Given the description of an element on the screen output the (x, y) to click on. 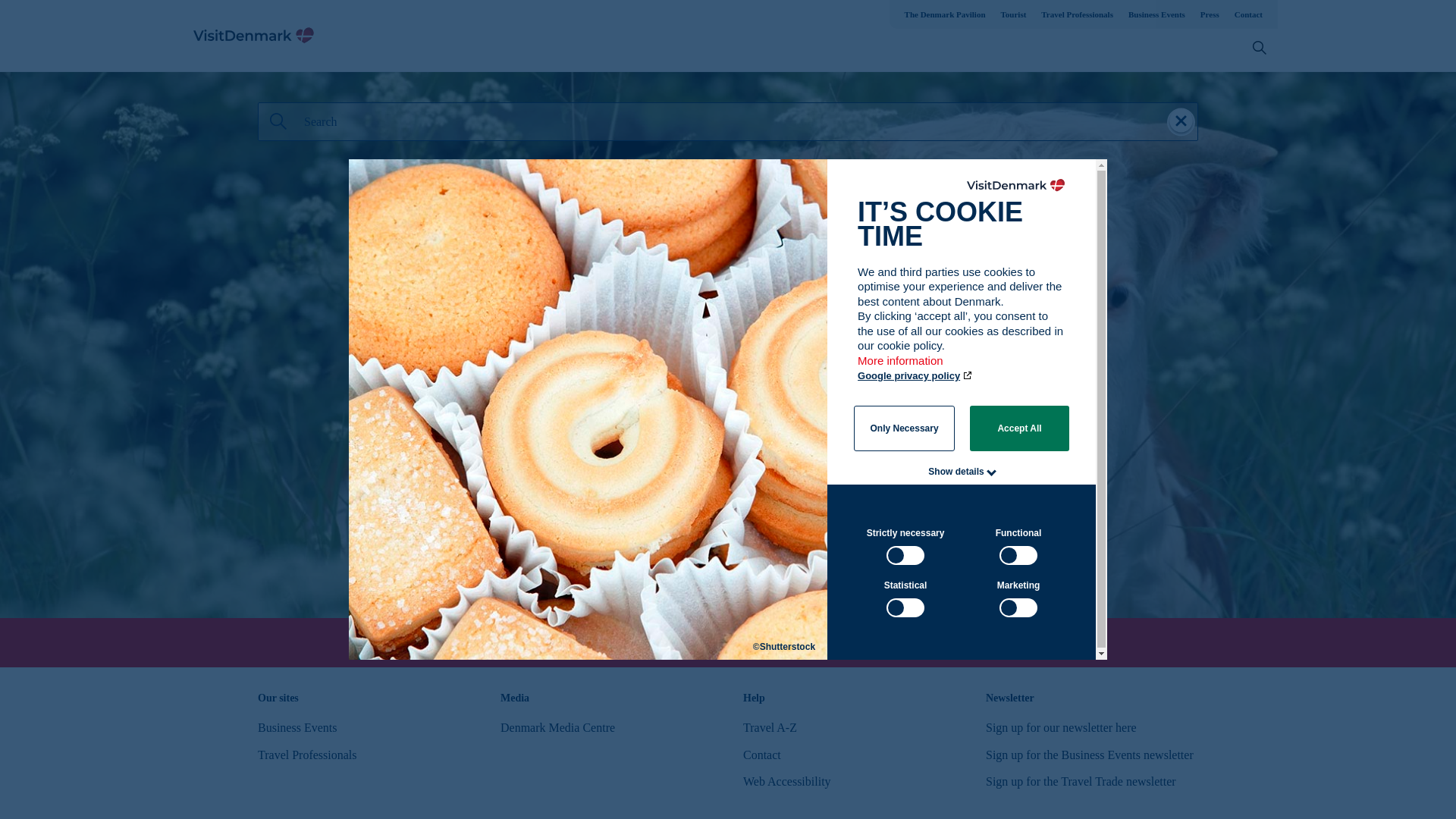
Show details (956, 471)
More information (900, 367)
Only Necessary (904, 428)
Accept All (1018, 428)
Google privacy policy (915, 375)
